Given the description of an element on the screen output the (x, y) to click on. 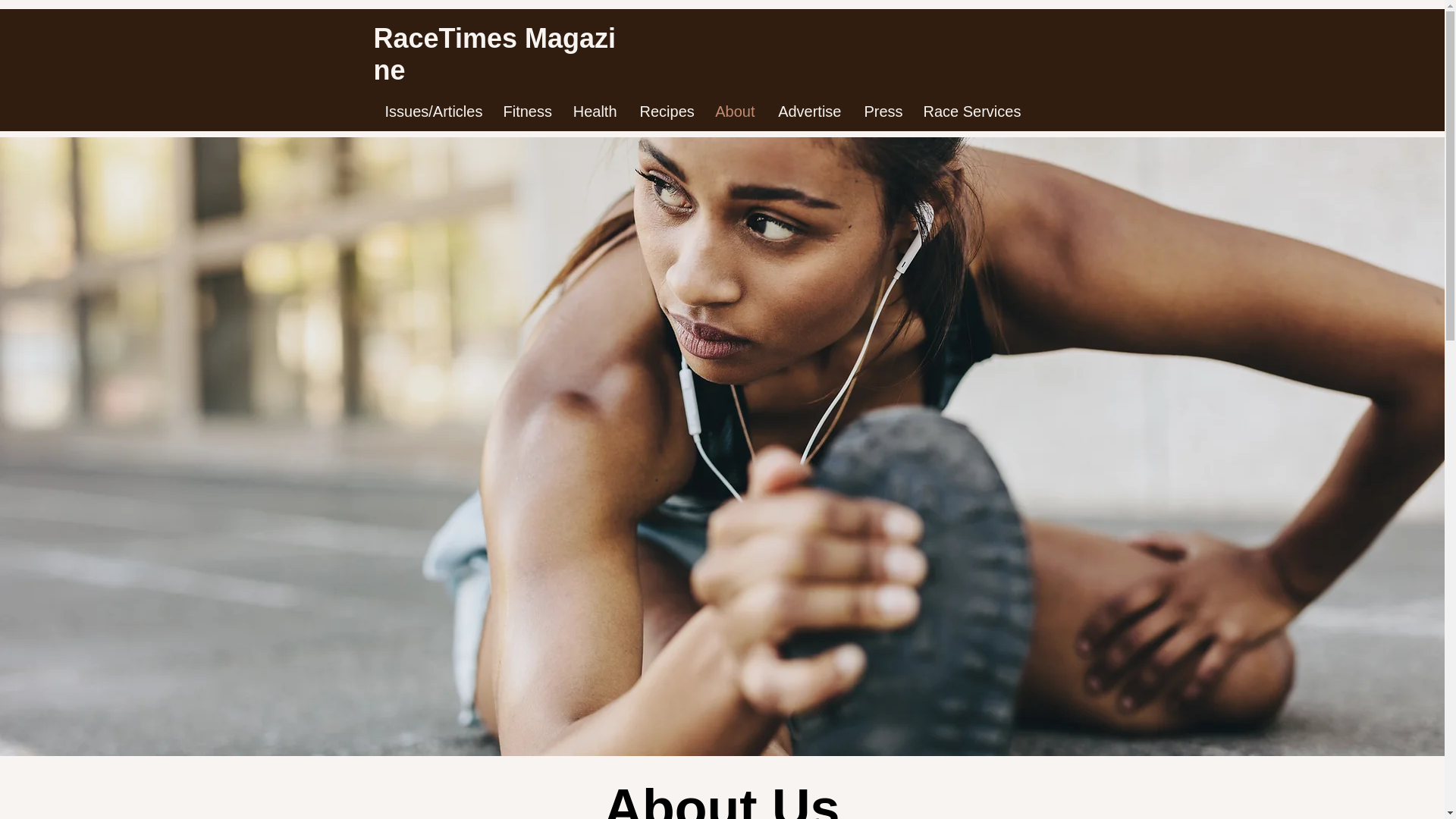
Health (593, 111)
RaceTimes  (448, 38)
Recipes (665, 111)
Advertise (808, 111)
Fitness (526, 111)
Press (881, 111)
Race Services (969, 111)
Magazine (493, 53)
About (735, 111)
